Given the description of an element on the screen output the (x, y) to click on. 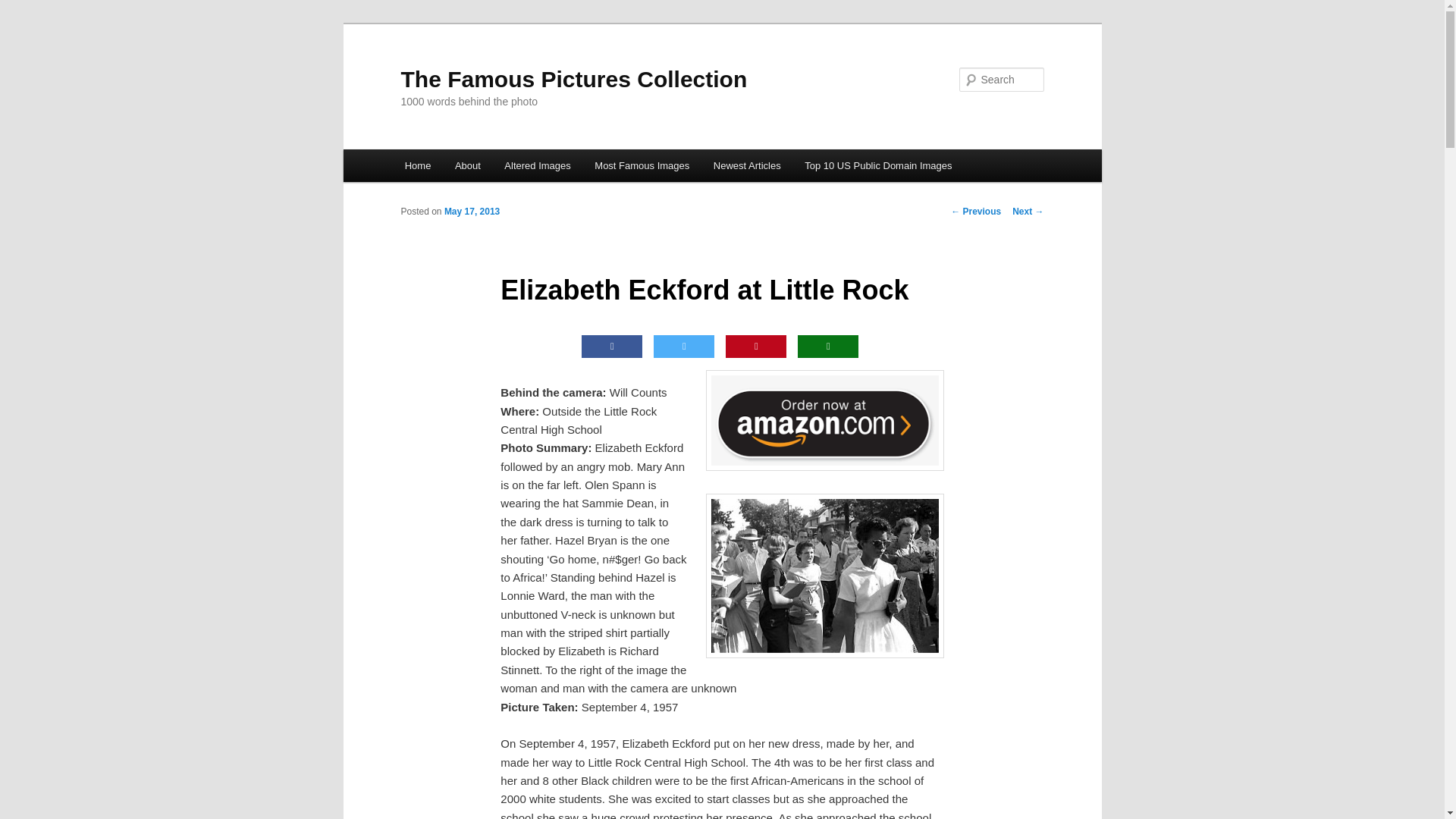
Newest Articles (746, 165)
The Famous Pictures Collection (573, 78)
Altered Images (538, 165)
About (467, 165)
7:05 am (471, 211)
May 17, 2013 (471, 211)
Home (417, 165)
Search (24, 8)
Most Famous Images (642, 165)
Top 10 US Public Domain Images (877, 165)
